Given the description of an element on the screen output the (x, y) to click on. 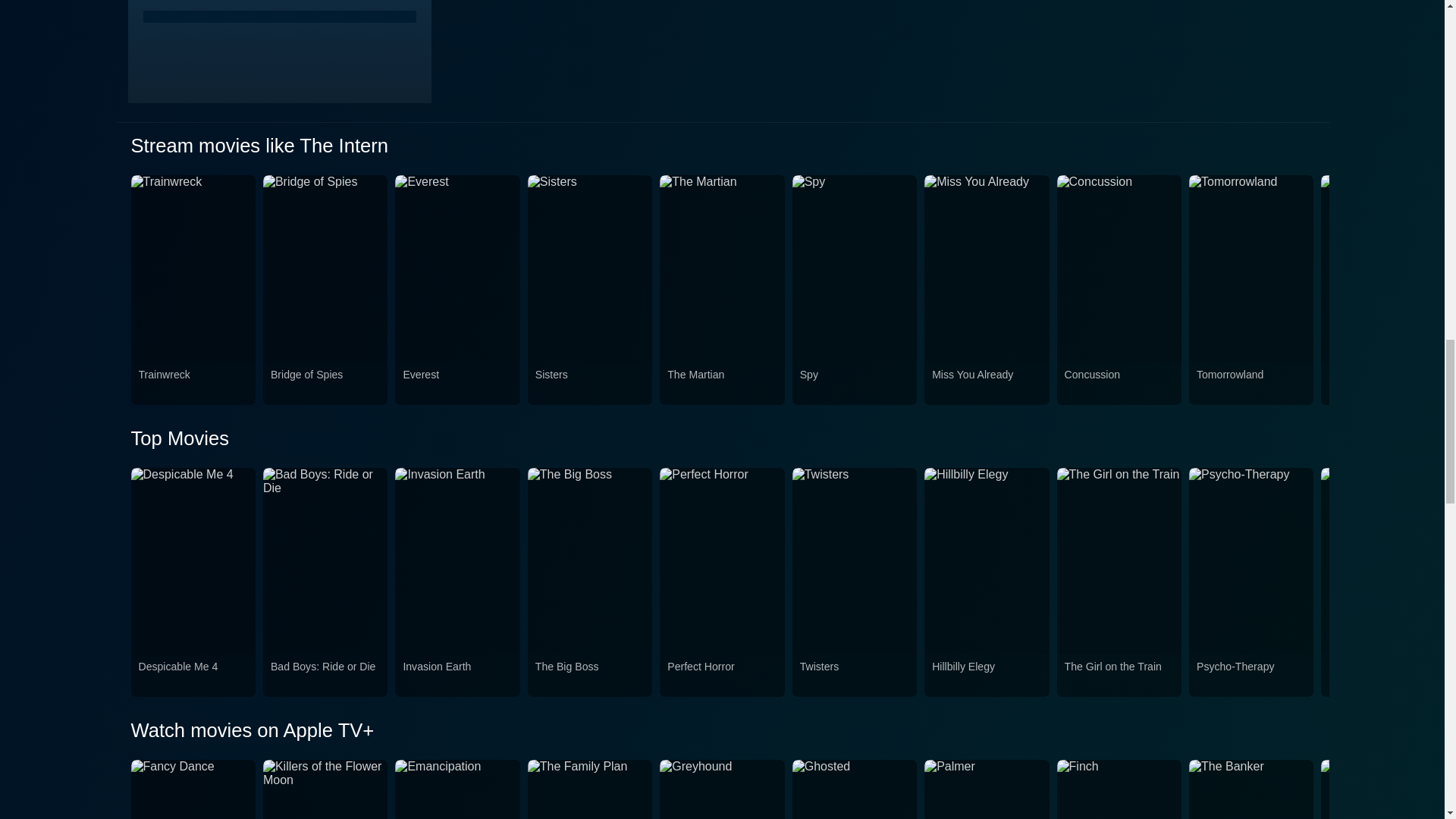
Room (1382, 383)
Bad Boys: Ride or Die (325, 675)
Concussion (1118, 383)
Bridge of Spies (325, 383)
Tomorrowland (1251, 383)
Perfect Horror (721, 675)
Sisters (590, 383)
Trainwreck (192, 383)
Everest (457, 383)
Twisters (853, 675)
The Big Boss (590, 675)
Spy (853, 383)
Miss You Already (986, 383)
Despicable Me 4 (192, 675)
The Martian (721, 383)
